Given the description of an element on the screen output the (x, y) to click on. 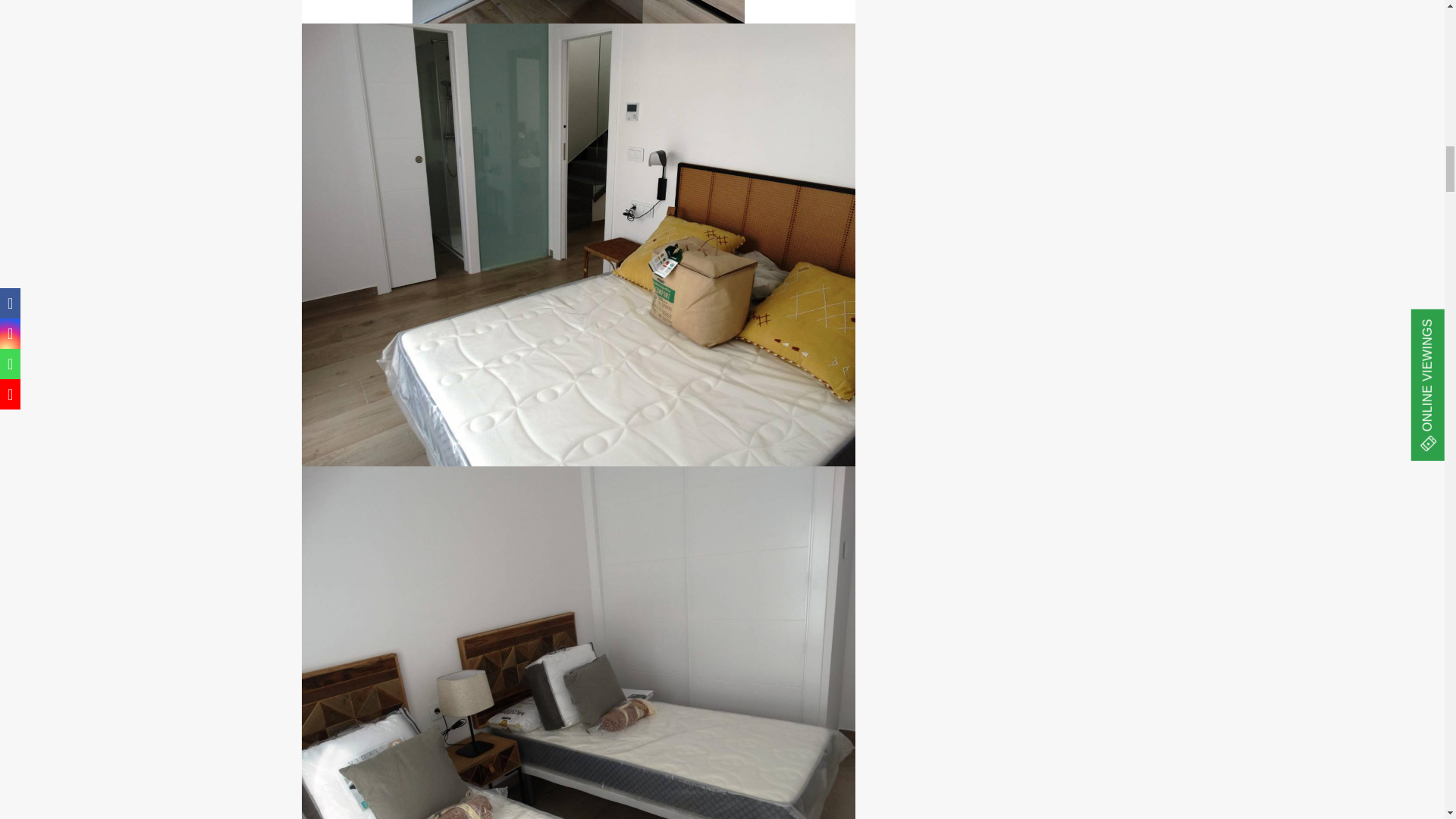
New Build - Villa - San Javier - Santiago de la Ribera (578, 11)
